Given the description of an element on the screen output the (x, y) to click on. 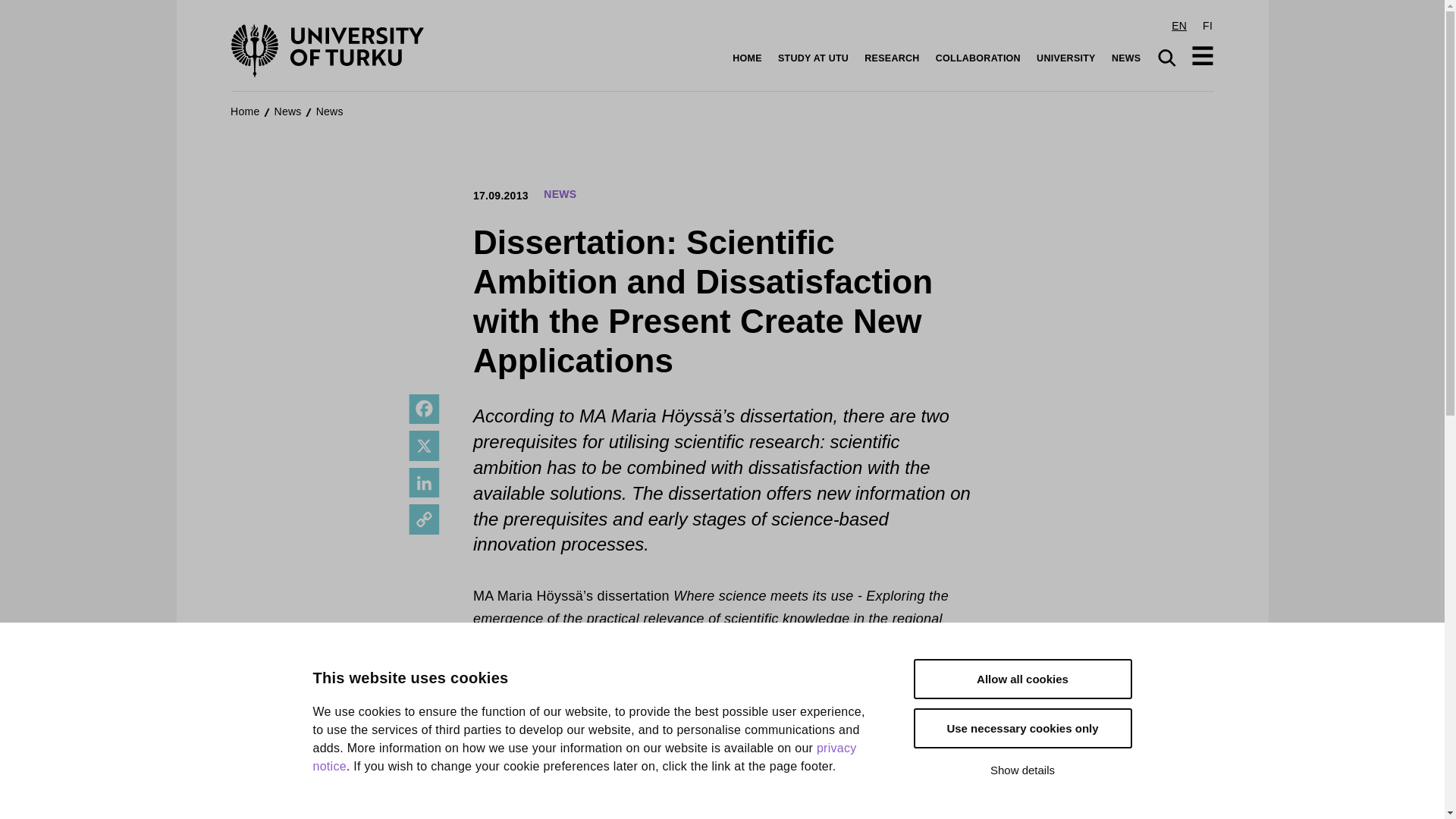
privacy notice (584, 804)
Show details (1021, 772)
Allow all cookies (1021, 703)
Use necessary cookies only (1021, 739)
